Given the description of an element on the screen output the (x, y) to click on. 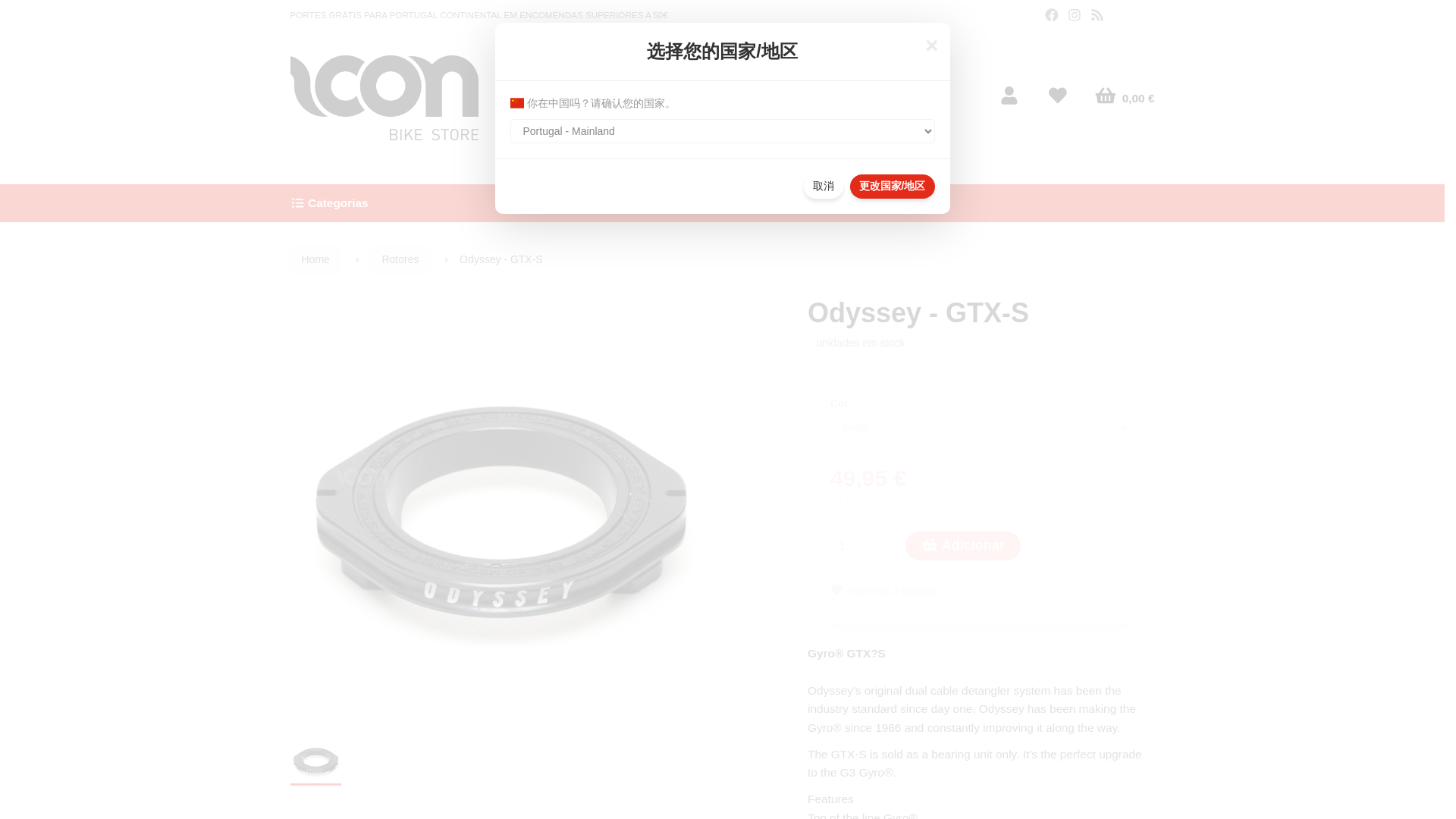
Contactos (891, 202)
Odyssey - GTX-S (314, 760)
RSS (1097, 15)
Icon Bike Store (383, 97)
Instagram (1074, 15)
Novidades (811, 202)
Facebook (1051, 15)
1 (860, 545)
